Given the description of an element on the screen output the (x, y) to click on. 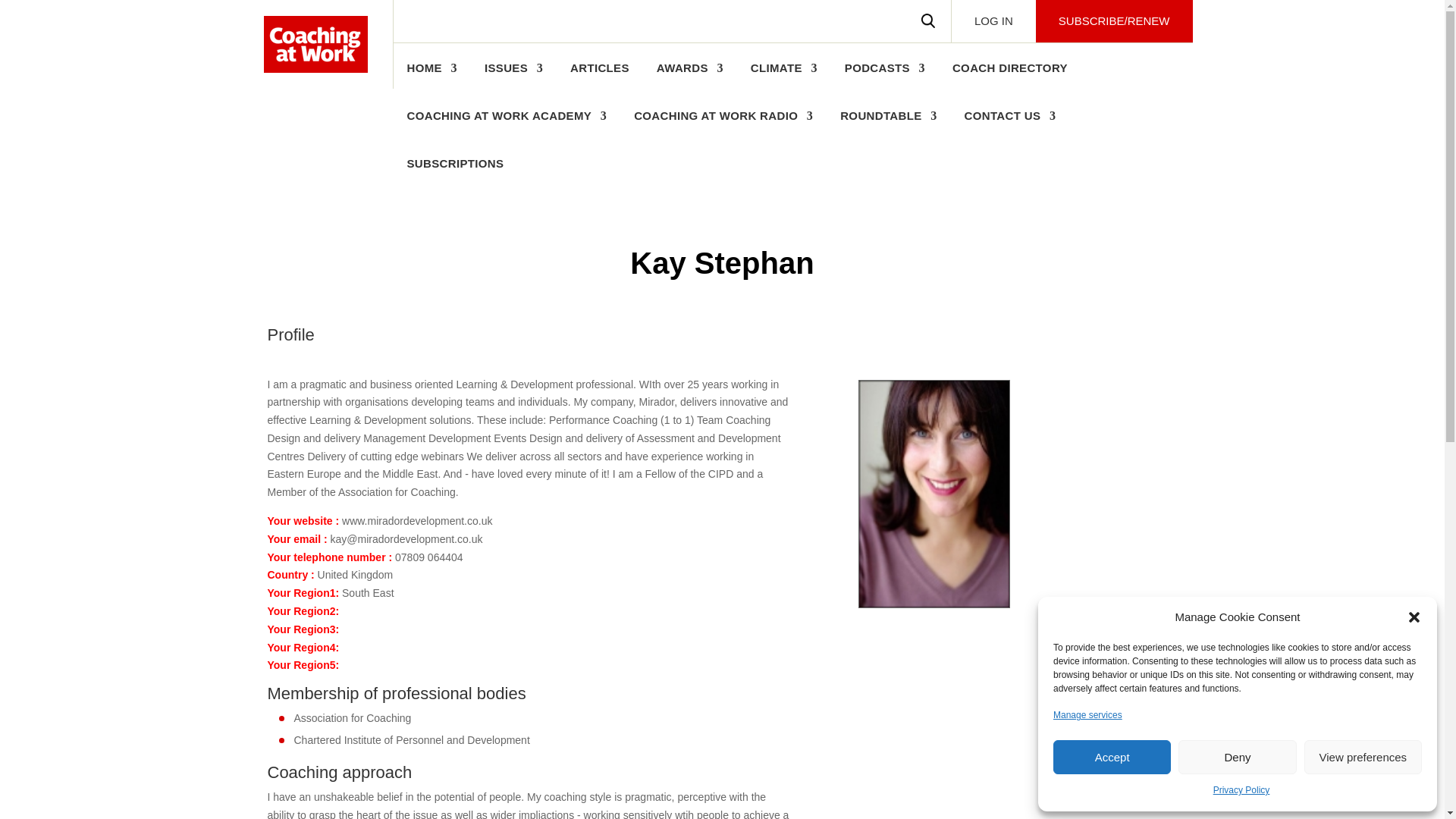
Privacy Policy (1240, 791)
Manage services (1087, 715)
Deny (1236, 756)
HOME (431, 76)
SEARCH (927, 21)
LOG IN (992, 21)
ISSUES (513, 76)
View preferences (1363, 756)
Accept (1111, 756)
